Given the description of an element on the screen output the (x, y) to click on. 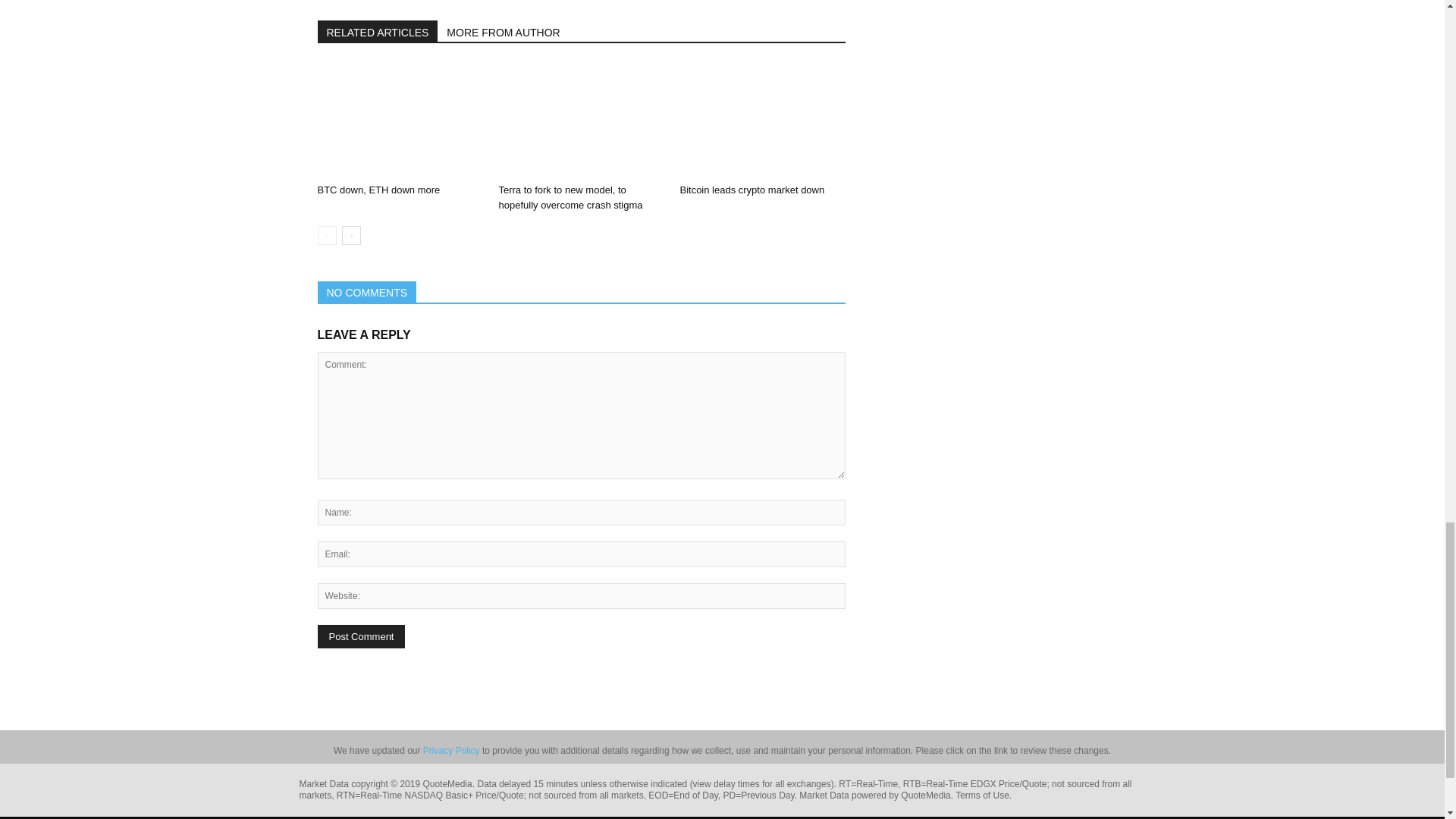
BTC down, ETH down more (378, 189)
Post Comment (360, 636)
BTC down, ETH down more (399, 120)
Bitcoin leads crypto market down (761, 120)
Bitcoin leads crypto market down (751, 189)
